Given the description of an element on the screen output the (x, y) to click on. 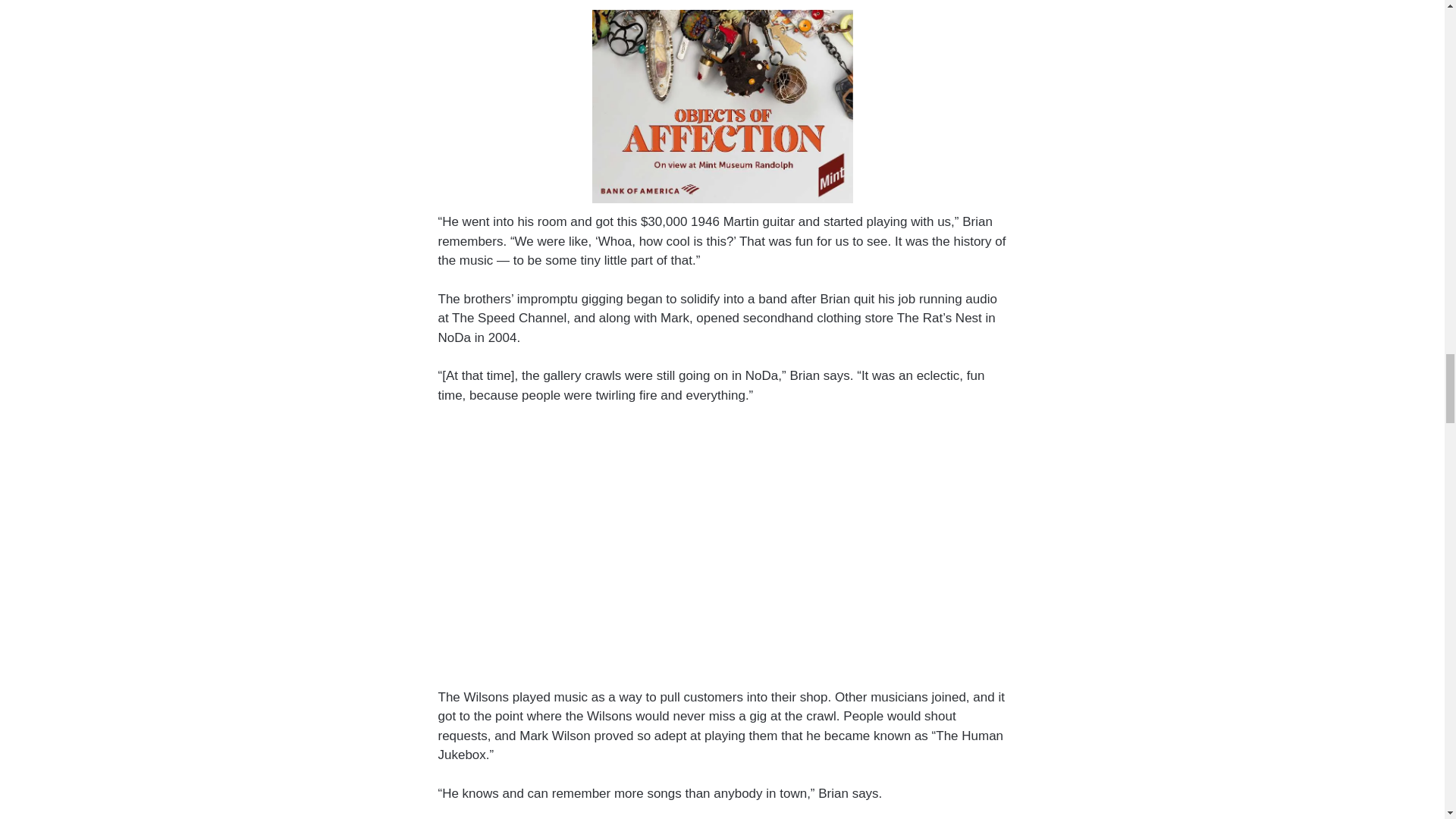
YouTube video player (720, 543)
